Given the description of an element on the screen output the (x, y) to click on. 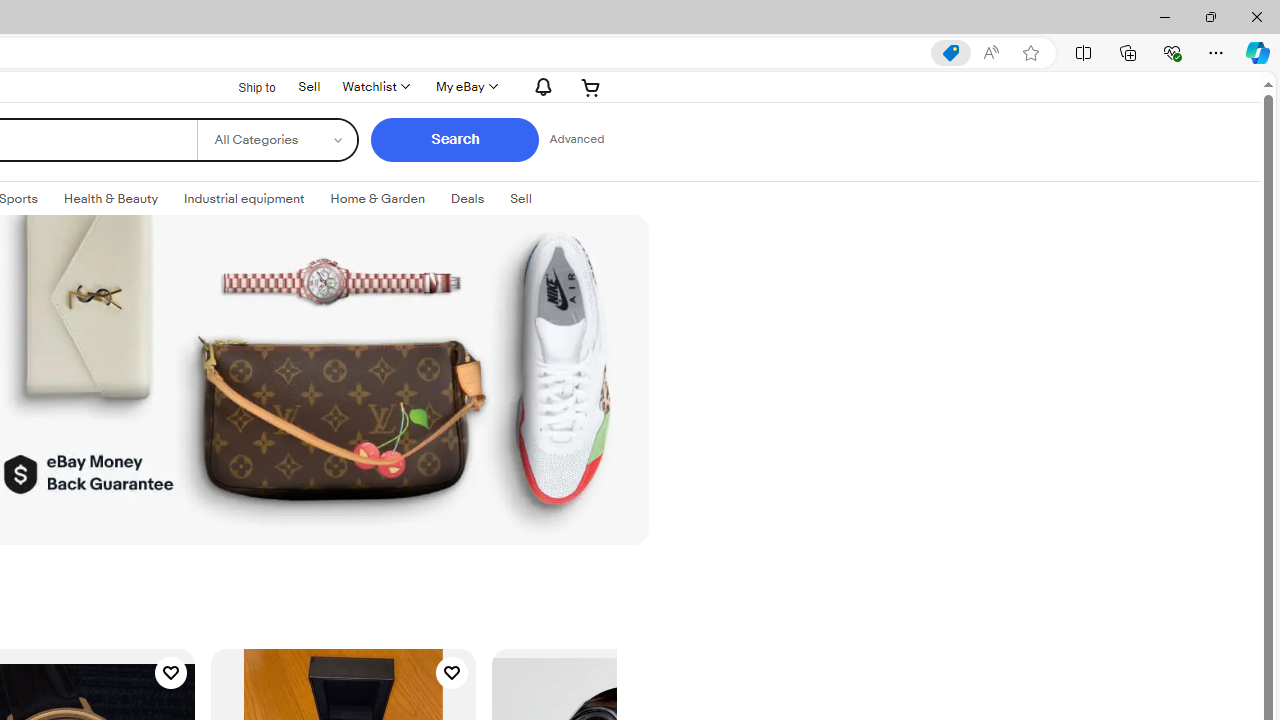
Ship to (244, 87)
AutomationID: gh-shipto-click (244, 85)
